Given the description of an element on the screen output the (x, y) to click on. 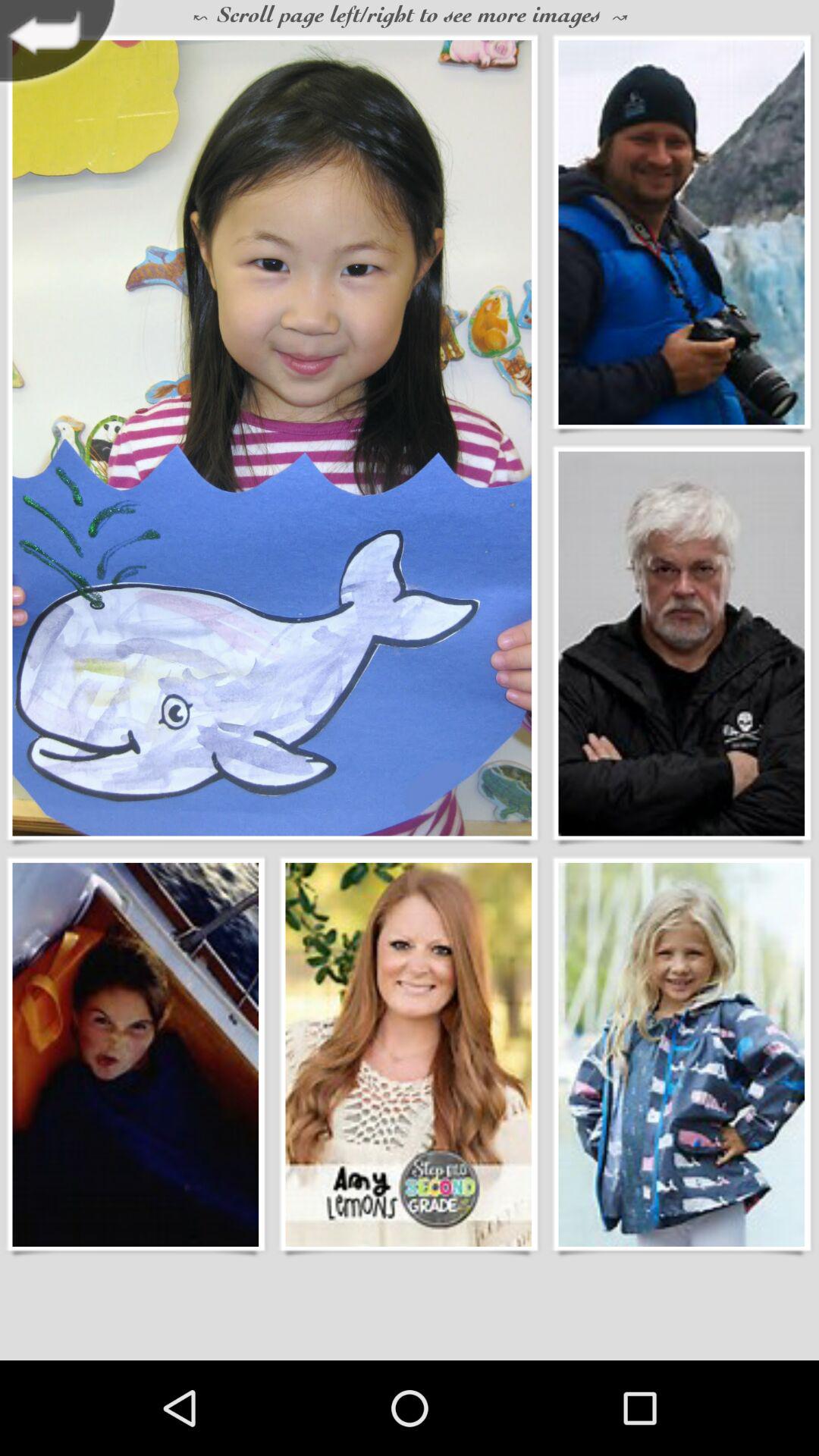
view this photo (681, 643)
